Given the description of an element on the screen output the (x, y) to click on. 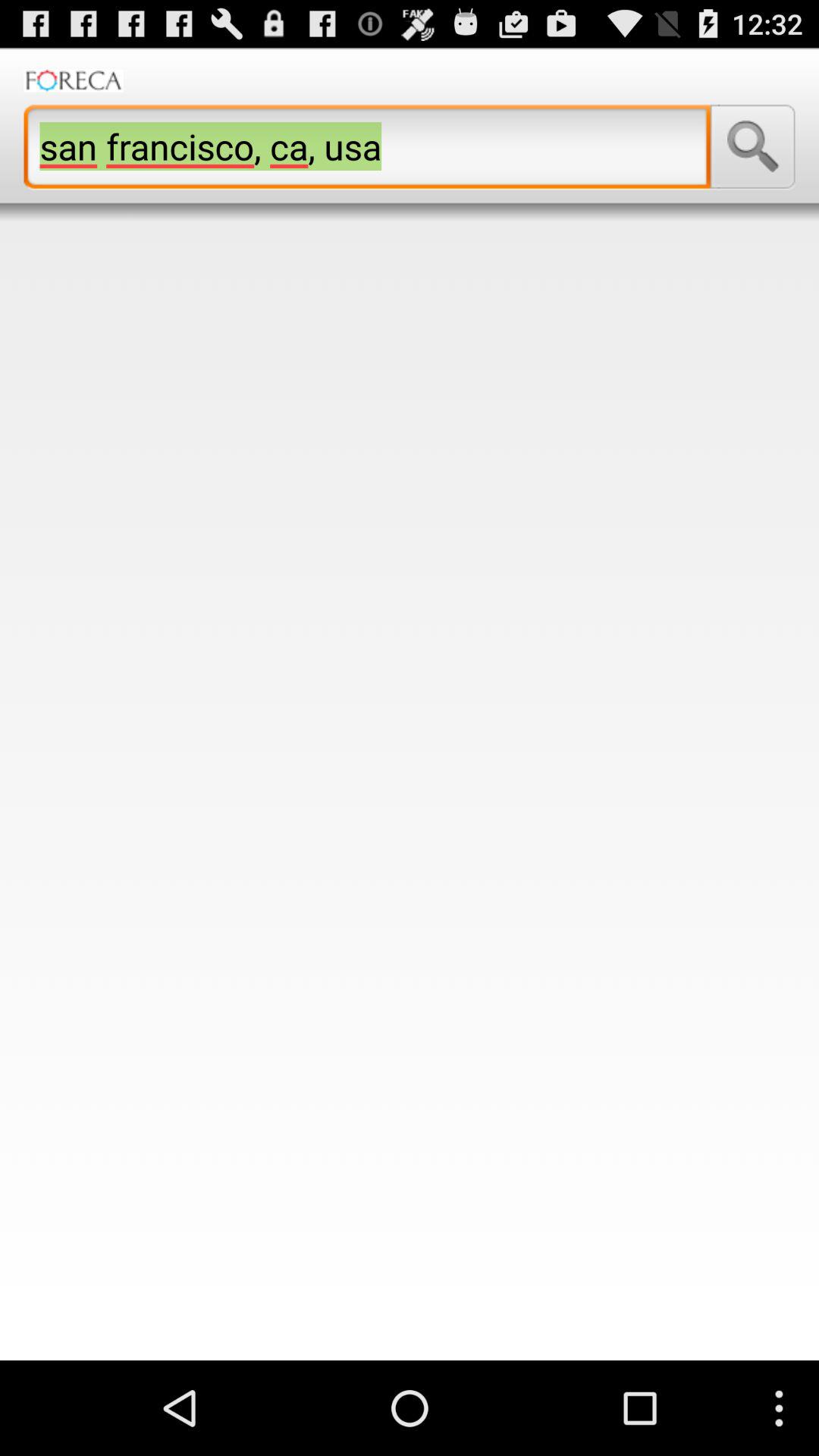
open the san francisco ca item (366, 146)
